Given the description of an element on the screen output the (x, y) to click on. 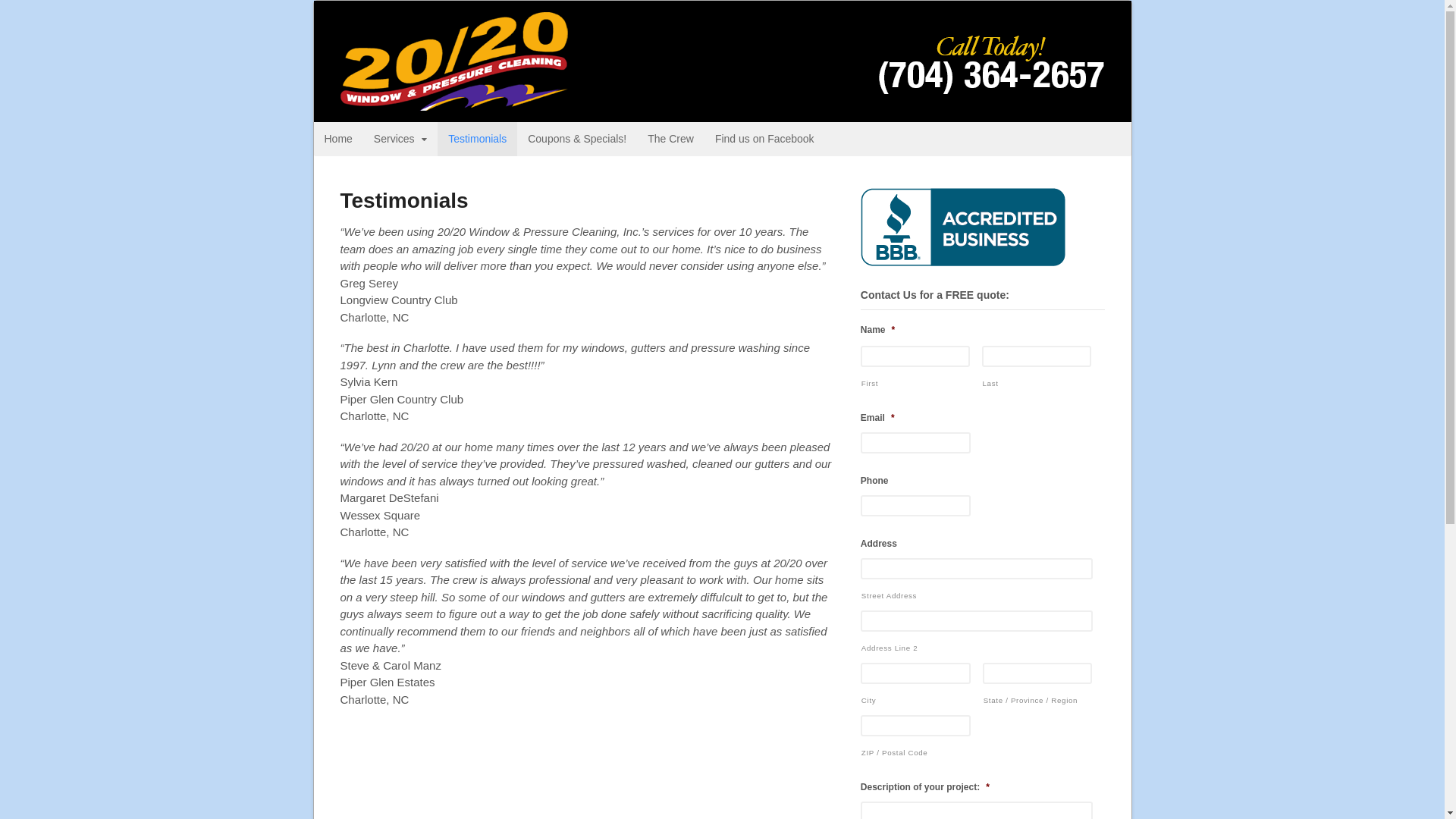
Testimonials Element type: text (477, 139)
Coupons & Specials! Element type: text (577, 139)
Find us on Facebook Element type: text (764, 139)
Home Element type: text (338, 139)
The Crew Element type: text (670, 139)
Services Element type: text (400, 139)
You'll see perfectly, we are the clear choice Element type: hover (453, 102)
